Given the description of an element on the screen output the (x, y) to click on. 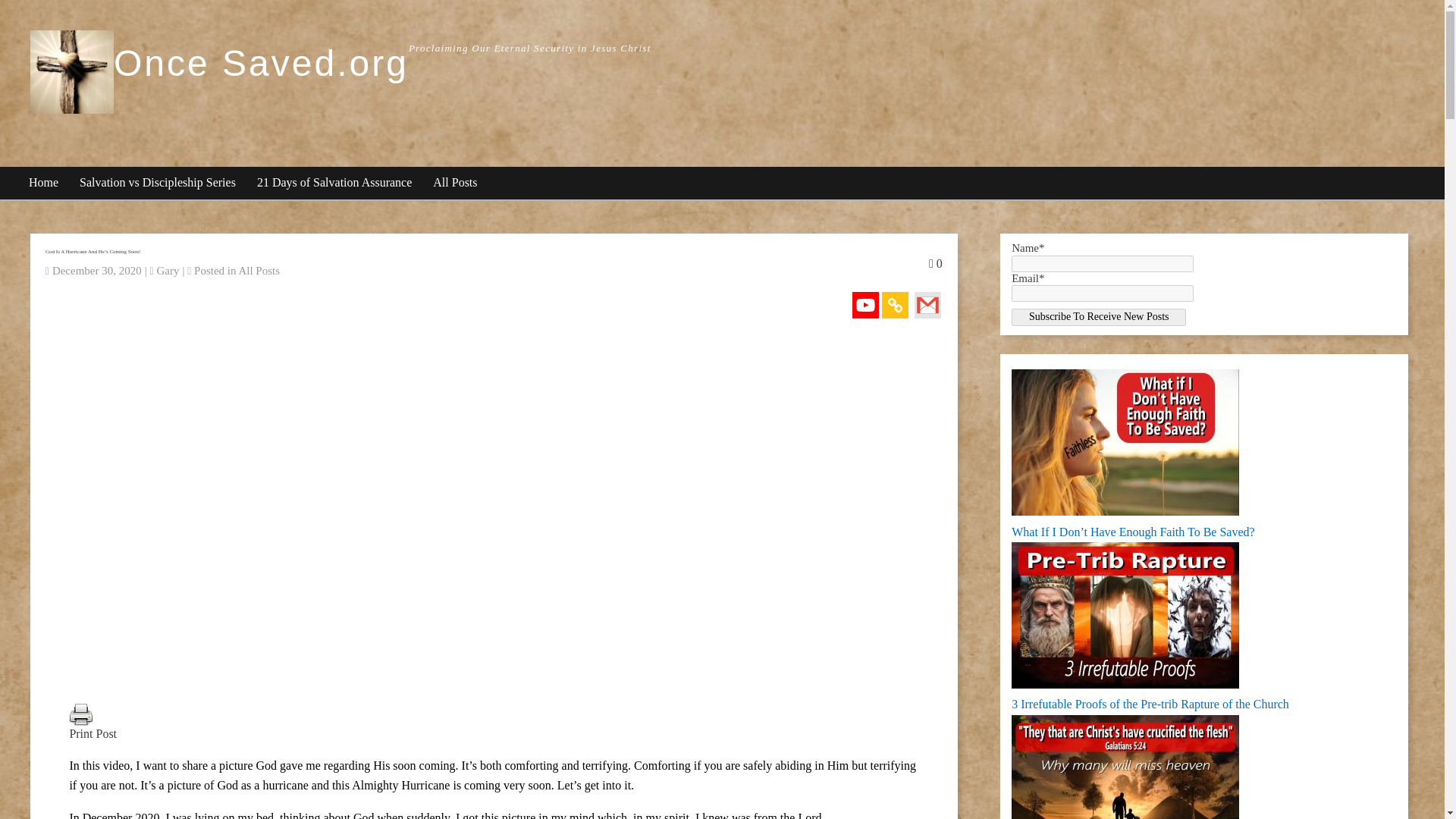
Copy Link (895, 304)
Print Post (80, 714)
Google Gmail (927, 304)
Print Post (493, 734)
Gary (167, 270)
21 Days of Salvation Assurance (335, 183)
All Posts (258, 270)
All Posts (455, 183)
Youtube (865, 304)
0 (935, 263)
